Given the description of an element on the screen output the (x, y) to click on. 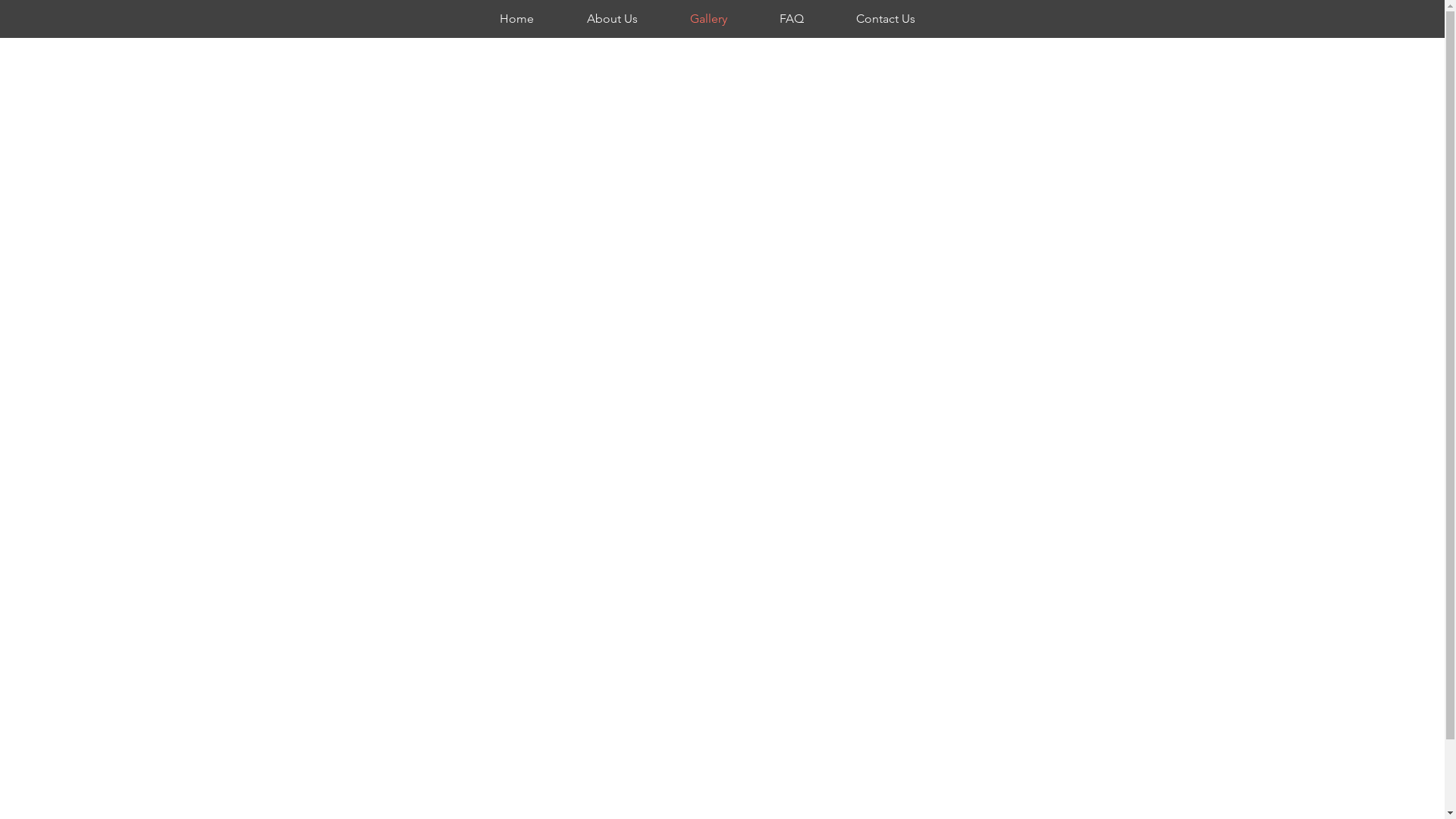
Contact Us Element type: text (900, 18)
About Us Element type: text (625, 18)
Home Element type: text (531, 18)
FAQ Element type: text (805, 18)
Gallery Element type: text (722, 18)
